Given the description of an element on the screen output the (x, y) to click on. 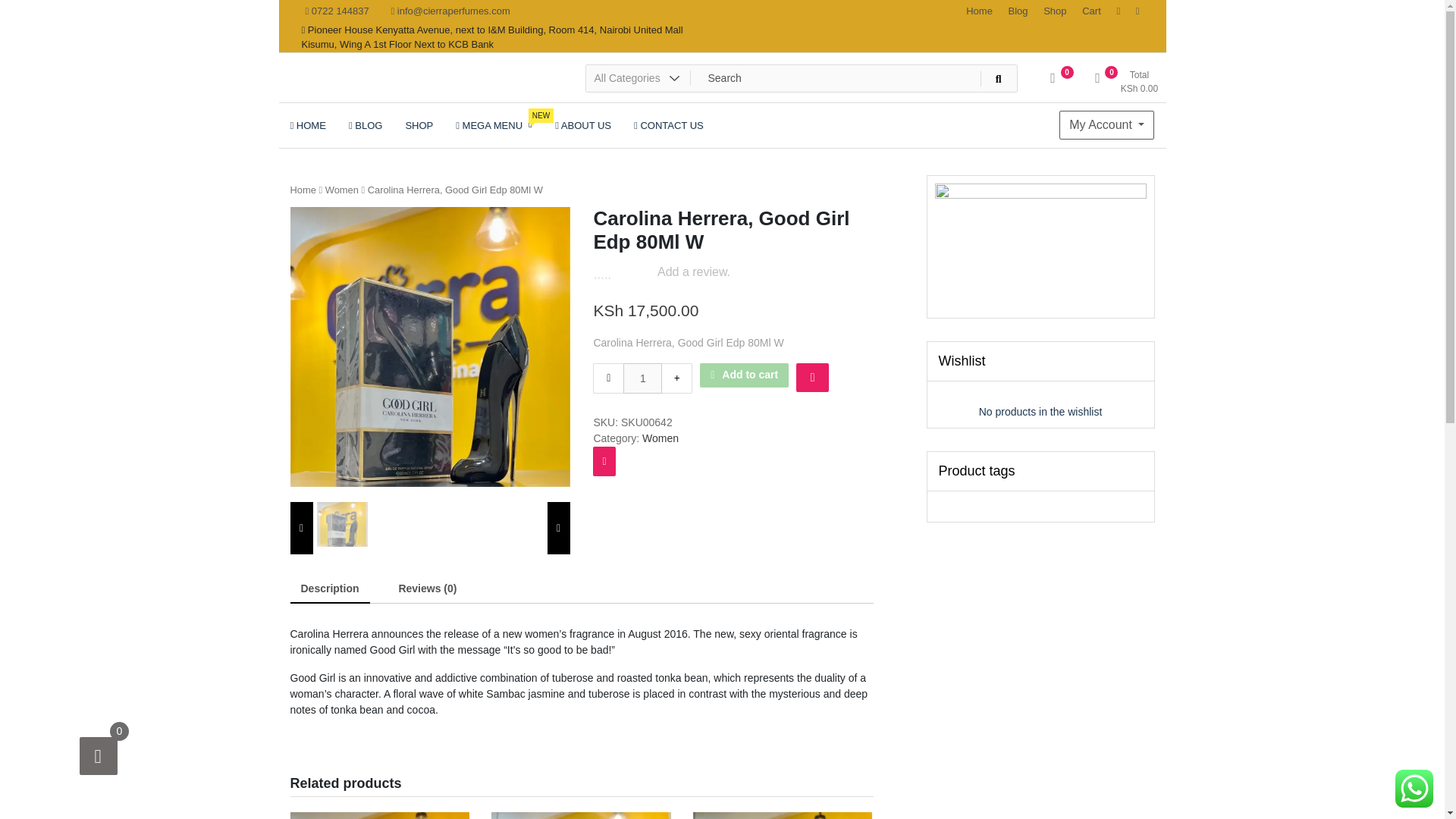
Shop (1054, 11)
HOME (308, 125)
SHOP (418, 125)
Cierra Perfumes (377, 94)
CONTACT US (668, 125)
Carolina Herrera, Good Girl Edp 80ml W (429, 346)
ABOUT US (583, 125)
BLOG (365, 125)
Qty (1123, 82)
1 (642, 378)
Blog (642, 378)
Carolina Herrera, Good Girl Edp 80ml W (1018, 11)
Home (493, 125)
